Given the description of an element on the screen output the (x, y) to click on. 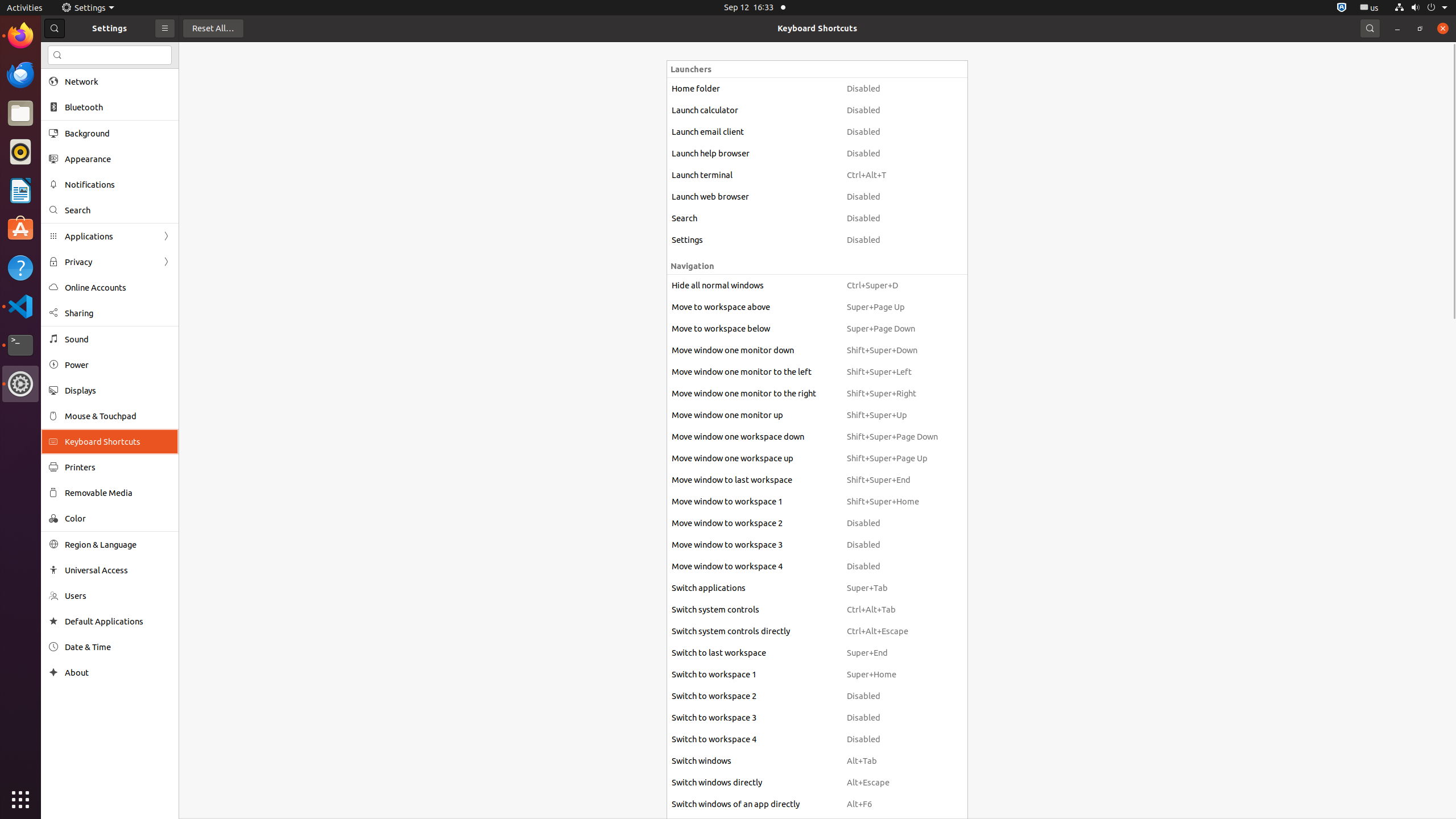
Close Element type: push-button (1442, 27)
Launch email client Element type: label (753, 131)
Move window one monitor to the right Element type: label (753, 393)
Default Applications Element type: label (117, 621)
Alt+Tab Element type: label (891, 760)
